Given the description of an element on the screen output the (x, y) to click on. 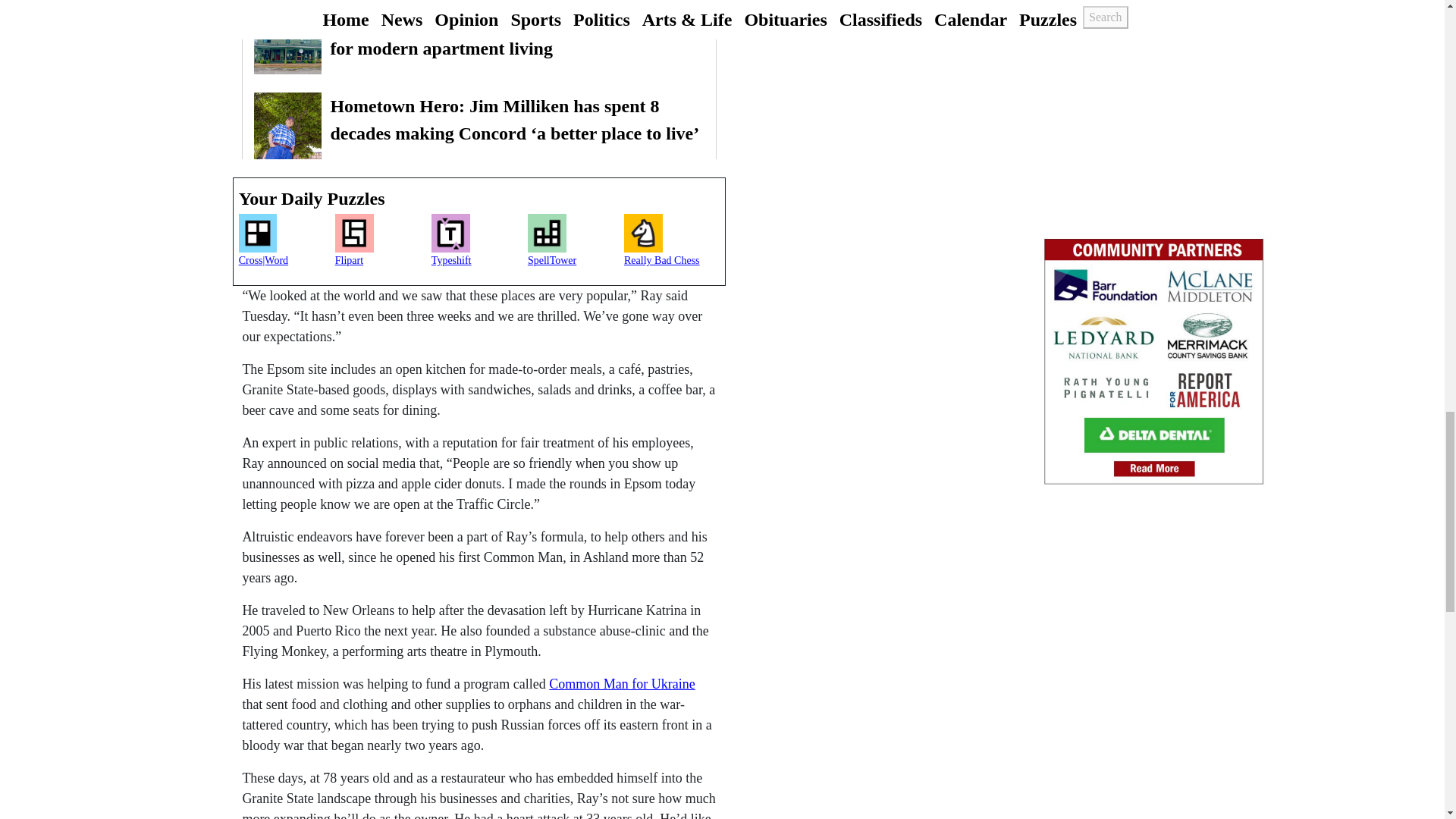
Your Daily Puzzles (479, 198)
Typeshift (478, 246)
Common Man for Ukraine (621, 683)
Really Bad Chess (672, 246)
SpellTower (575, 246)
Flipart (382, 246)
